Given the description of an element on the screen output the (x, y) to click on. 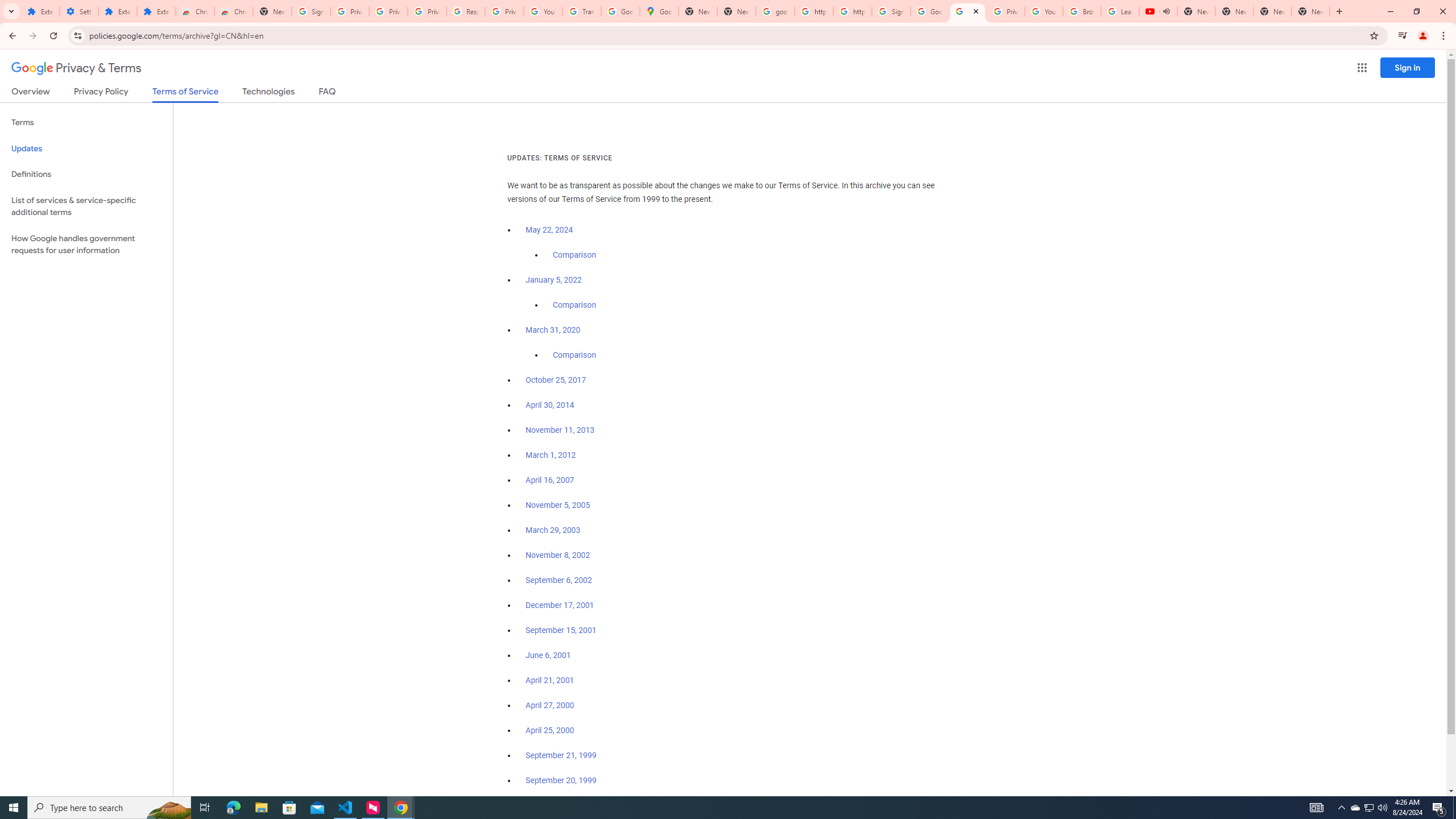
Google apps (1362, 67)
June 6, 2001 (547, 655)
January 5, 2022 (553, 280)
Extensions (117, 11)
System (6, 6)
How Google handles government requests for user information (86, 244)
April 25, 2000 (550, 729)
Terms (86, 122)
Settings (79, 11)
April 27, 2000 (550, 705)
September 21, 1999 (560, 755)
Google Maps (659, 11)
November 11, 2013 (560, 430)
New Tab (1311, 11)
Bookmark this tab (1373, 35)
